Given the description of an element on the screen output the (x, y) to click on. 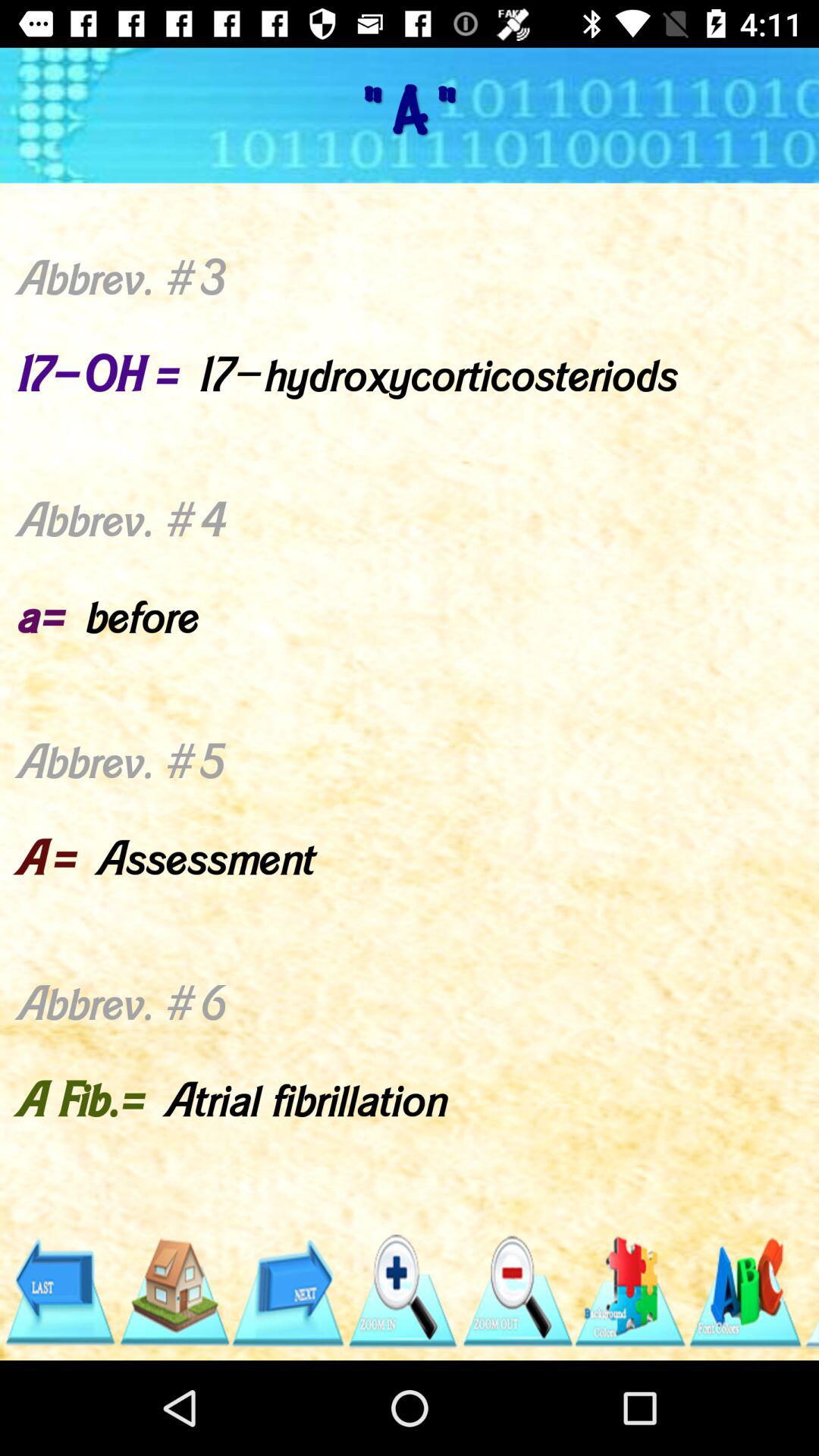
zoom in (402, 1291)
